Given the description of an element on the screen output the (x, y) to click on. 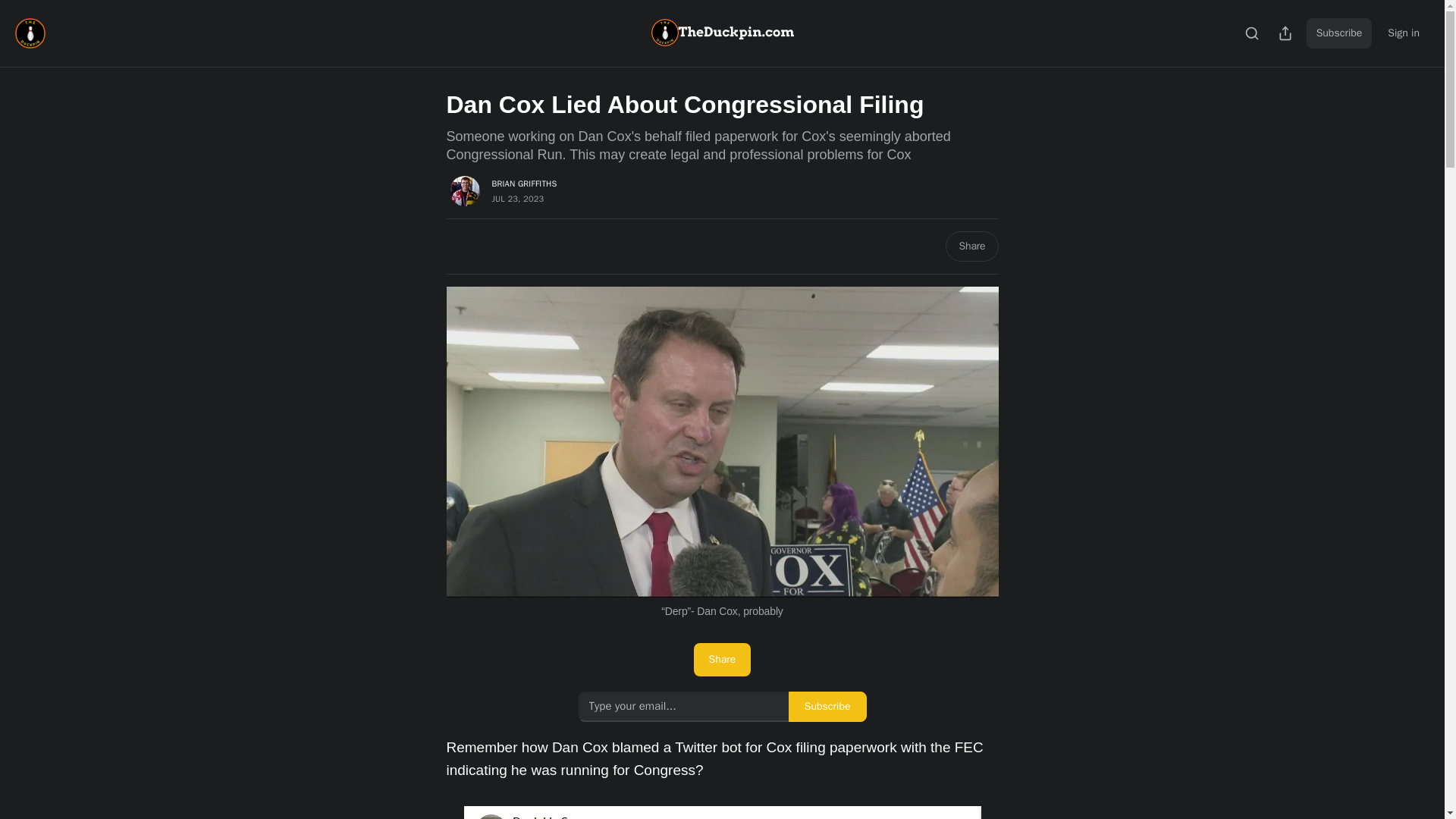
Subscribe (1339, 33)
BRIAN GRIFFITHS (524, 183)
Share (722, 659)
Sign in (1403, 33)
Share (970, 245)
Subscribe (827, 706)
